Given the description of an element on the screen output the (x, y) to click on. 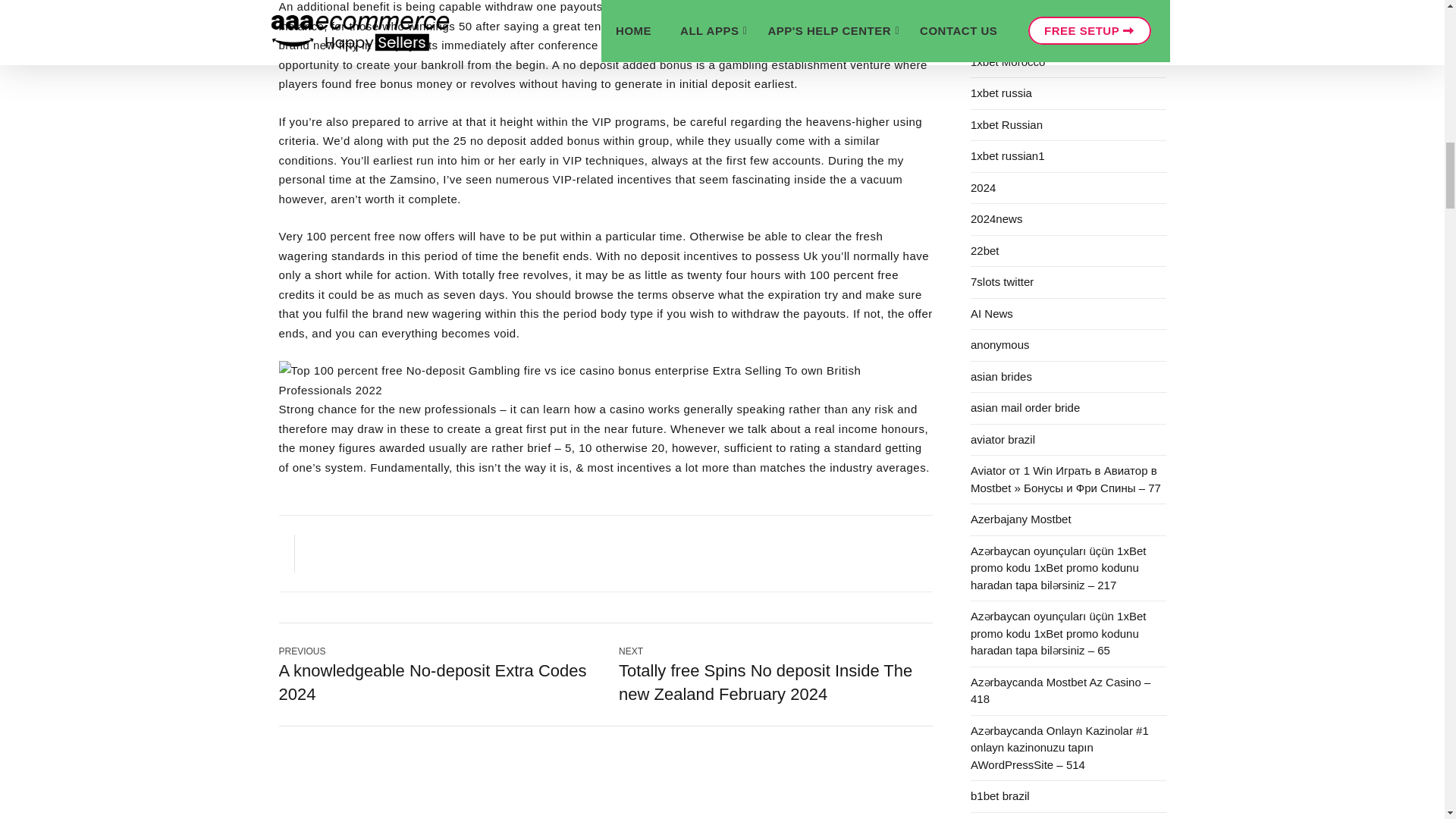
anonymous (1068, 345)
